Given the description of an element on the screen output the (x, y) to click on. 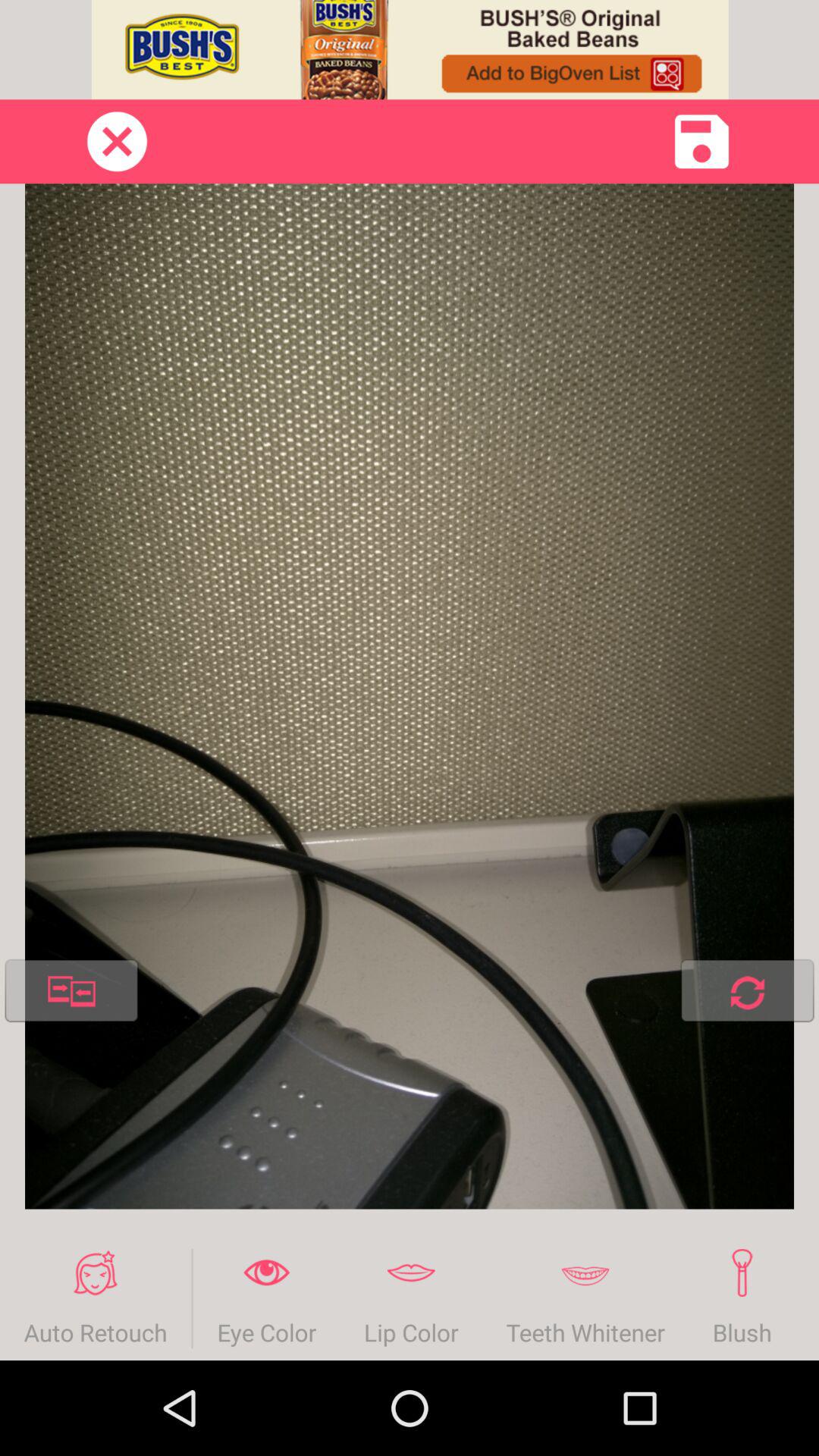
launch the item to the left of the teeth whitener item (411, 1298)
